Given the description of an element on the screen output the (x, y) to click on. 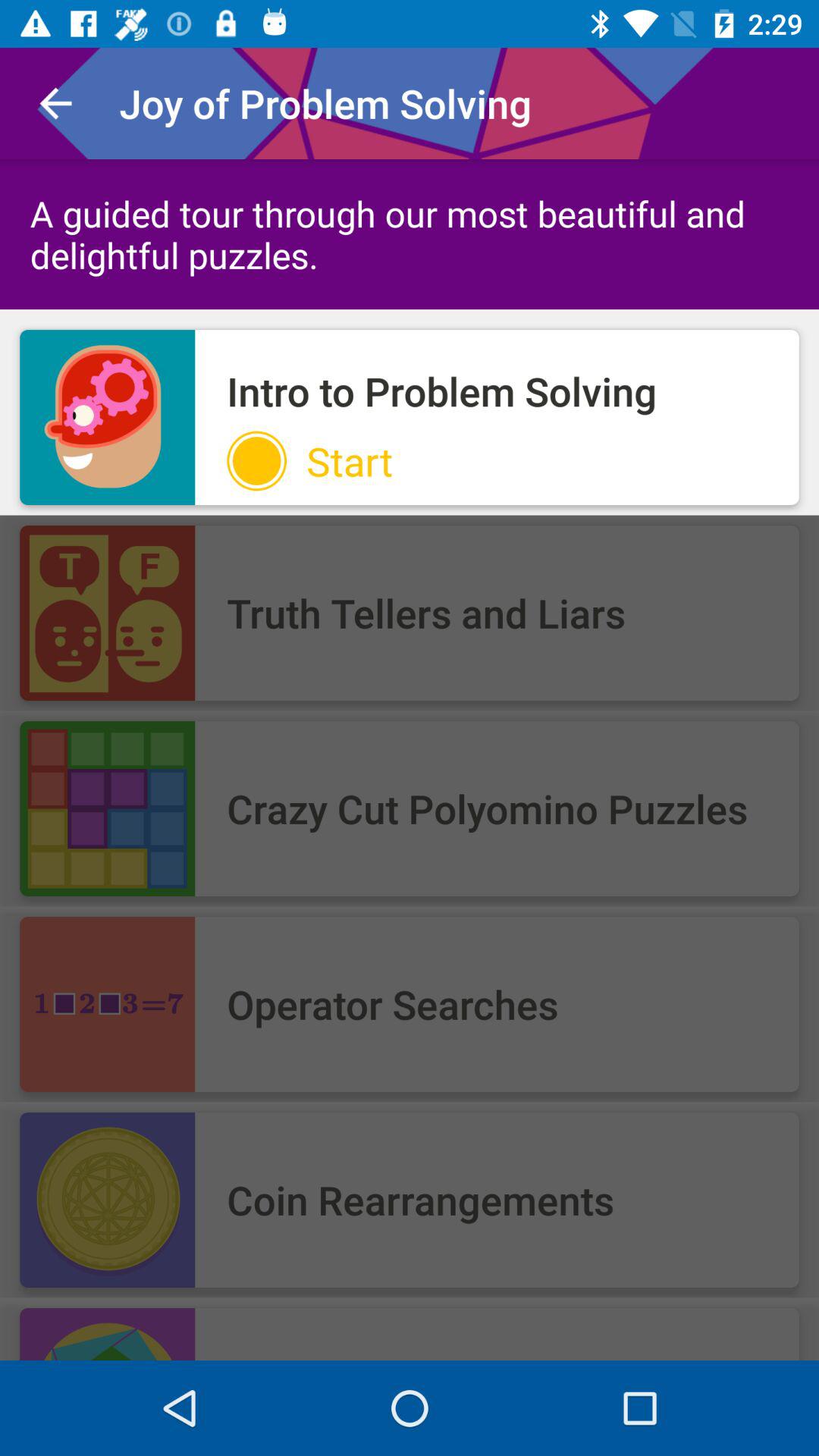
turn off app next to joy of problem (55, 103)
